Given the description of an element on the screen output the (x, y) to click on. 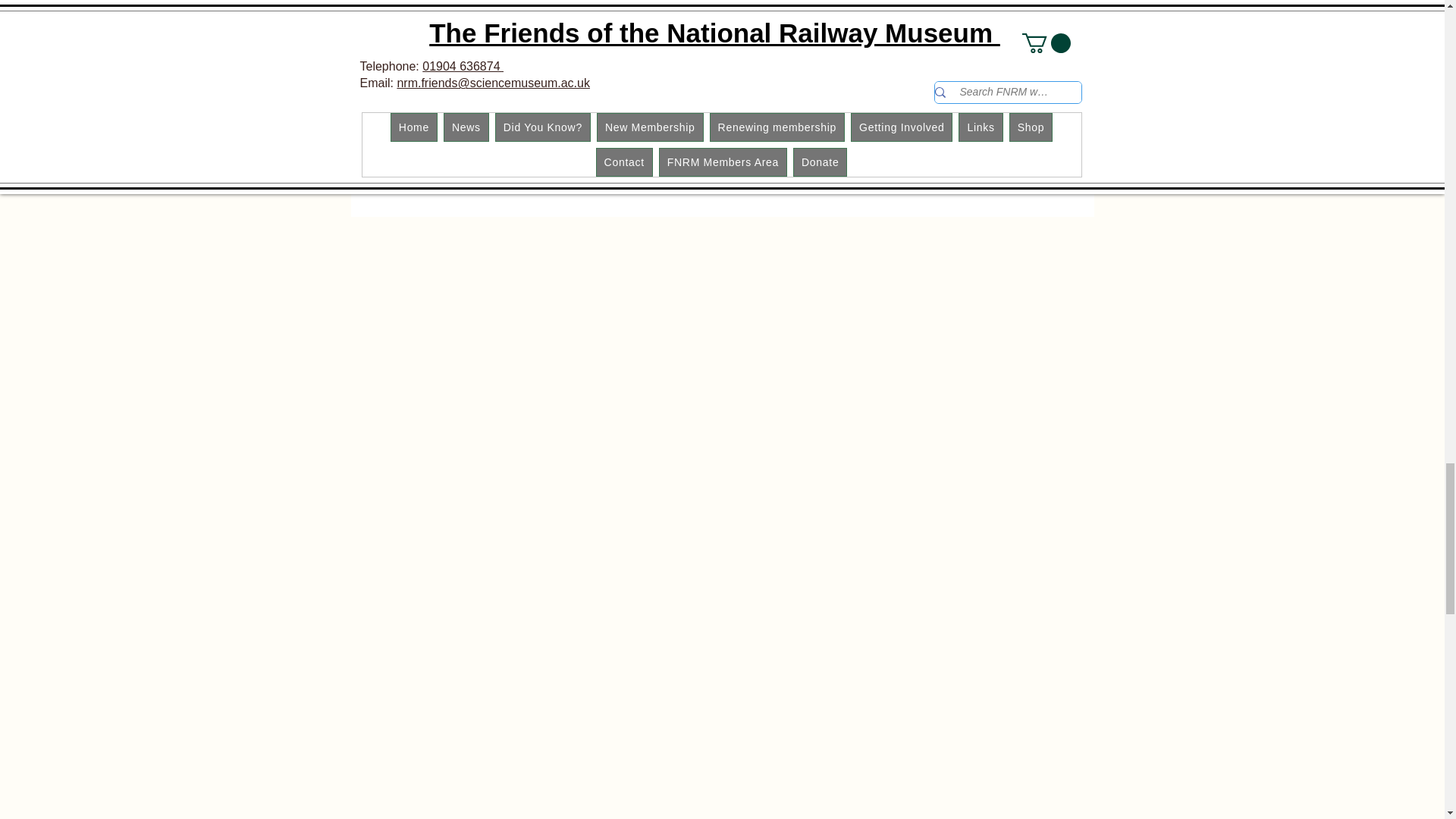
A Smooth Ride (555, 160)
Exploding for Safety (476, 99)
0 (721, 99)
